Given the description of an element on the screen output the (x, y) to click on. 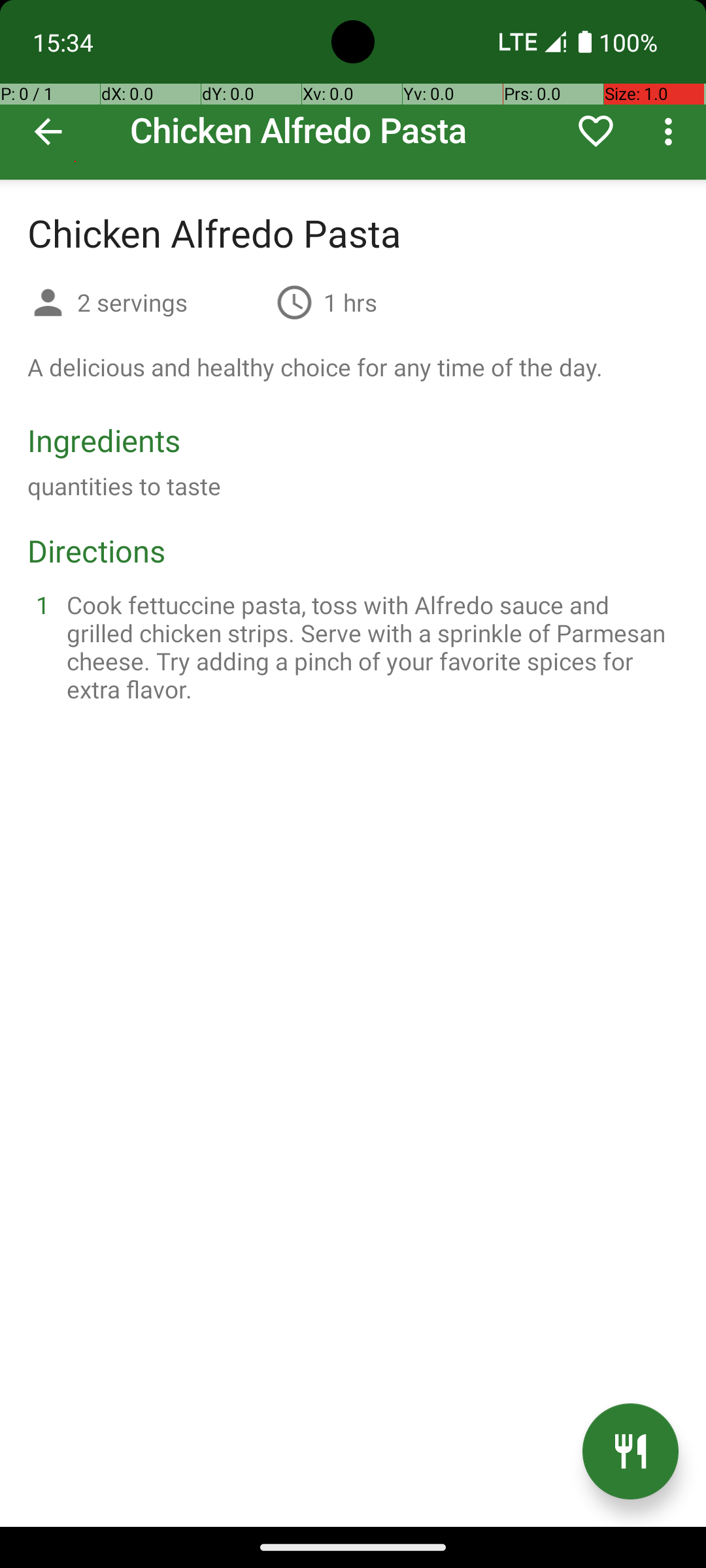
Cook fettuccine pasta, toss with Alfredo sauce and grilled chicken strips. Serve with a sprinkle of Parmesan cheese. Try adding a pinch of your favorite spices for extra flavor. Element type: android.widget.TextView (368, 646)
